Given the description of an element on the screen output the (x, y) to click on. 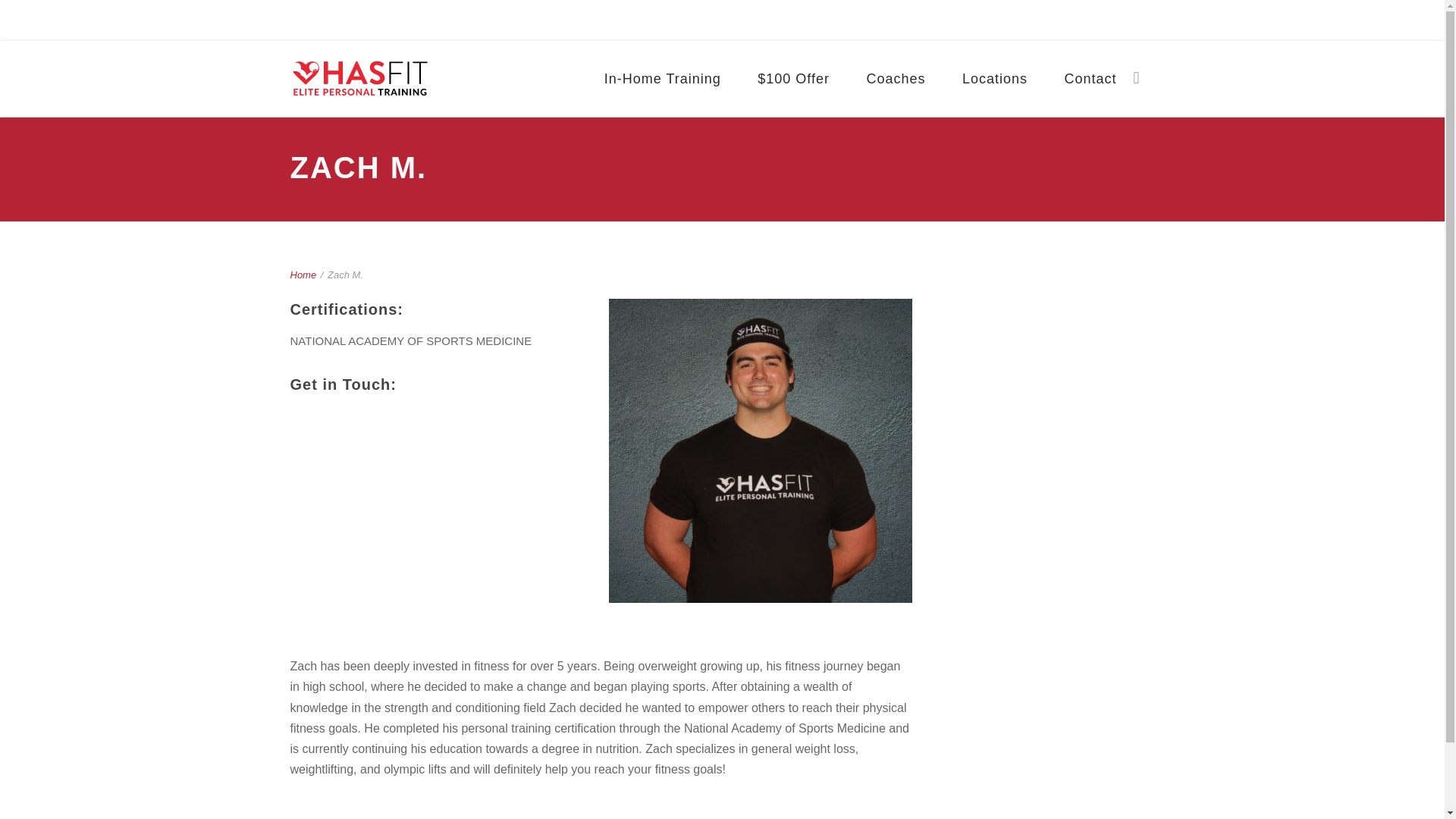
Contact (1089, 78)
HASfit Personal Trainer San Antonio (358, 79)
Home (302, 274)
Coaches (895, 78)
In-Home Training (663, 78)
Locations (993, 78)
